Given the description of an element on the screen output the (x, y) to click on. 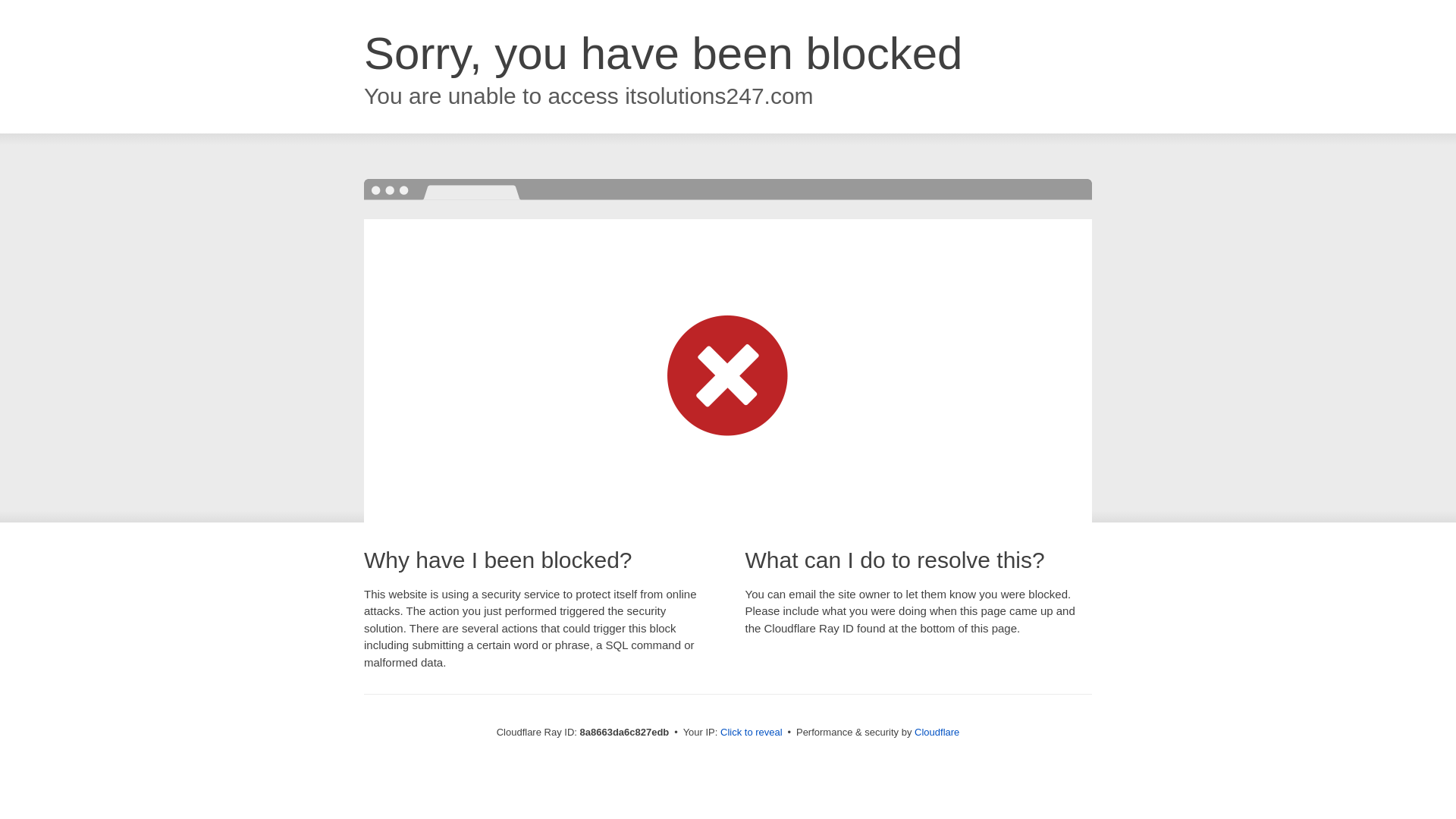
Click to reveal (751, 732)
Cloudflare (936, 731)
